Given the description of an element on the screen output the (x, y) to click on. 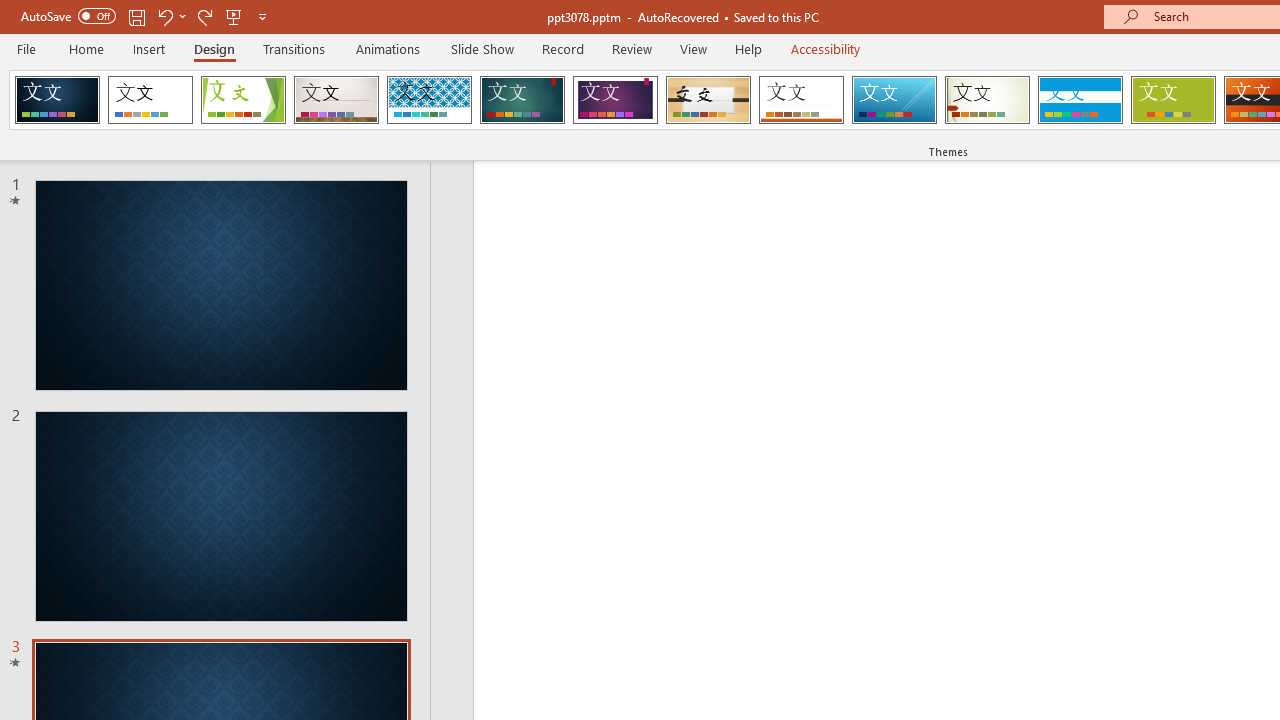
Organic (708, 100)
Wisp (987, 100)
